Given the description of an element on the screen output the (x, y) to click on. 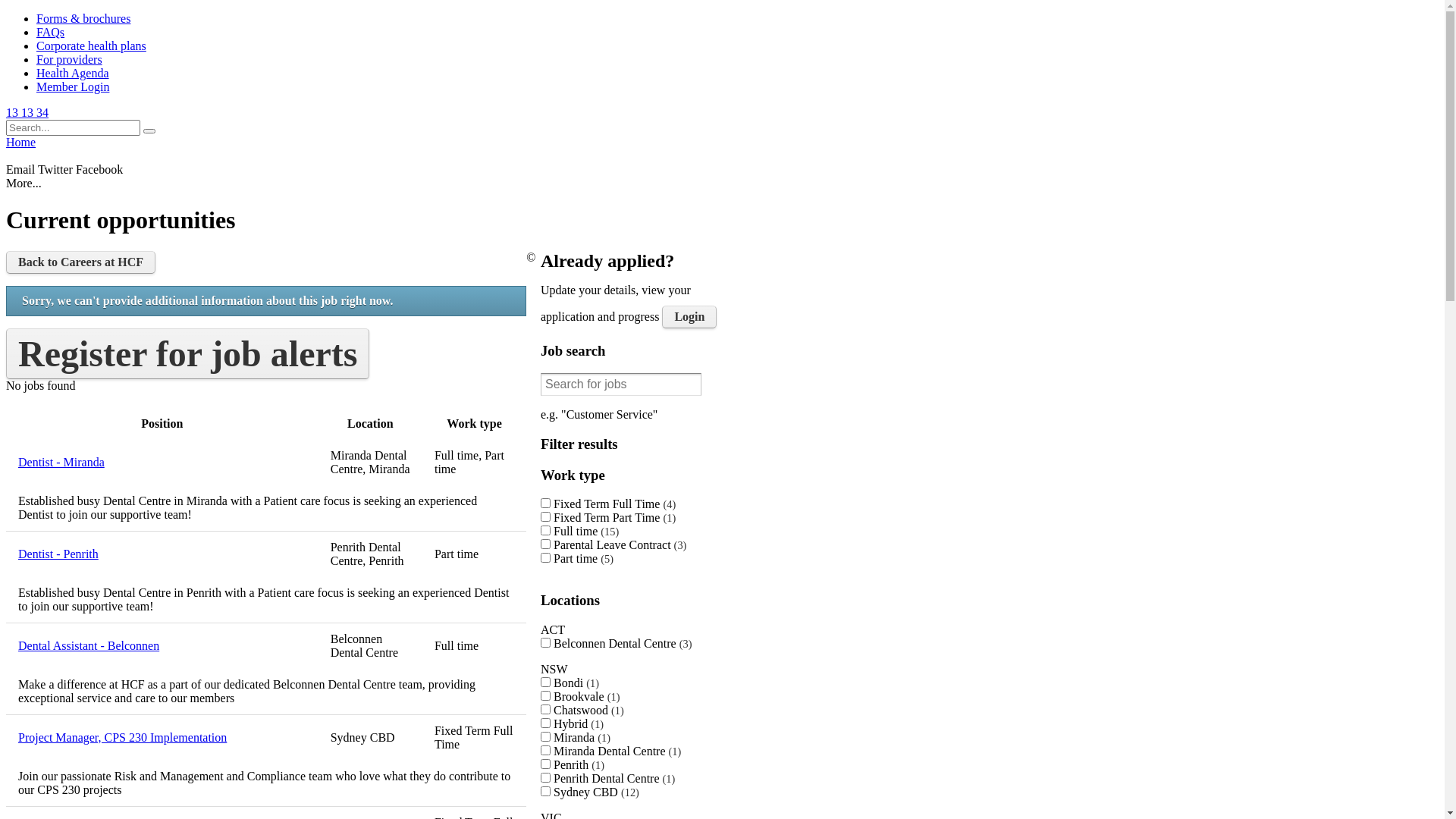
13 13 34 Element type: text (27, 112)
Dentist - Miranda Element type: text (162, 462)
For providers Element type: text (69, 59)
Member Login Element type: text (72, 86)
Health Agenda Element type: text (72, 72)
Dental Assistant - Belconnen Element type: text (162, 645)
Dentist - Penrith Element type: text (162, 554)
Back to Careers at HCF Element type: text (80, 262)
Forms & brochures Element type: text (83, 18)
Project Manager, CPS 230 Implementation Element type: text (162, 737)
Search... Element type: hover (73, 127)
More... Element type: text (23, 182)
Corporate health plans Element type: text (91, 45)
Register for job alerts Element type: text (187, 353)
Email Element type: text (20, 169)
Twitter Element type: text (54, 169)
Home Element type: text (20, 141)
Facebook Element type: text (98, 169)
Login Element type: text (689, 316)
FAQs Element type: text (50, 31)
